Given the description of an element on the screen output the (x, y) to click on. 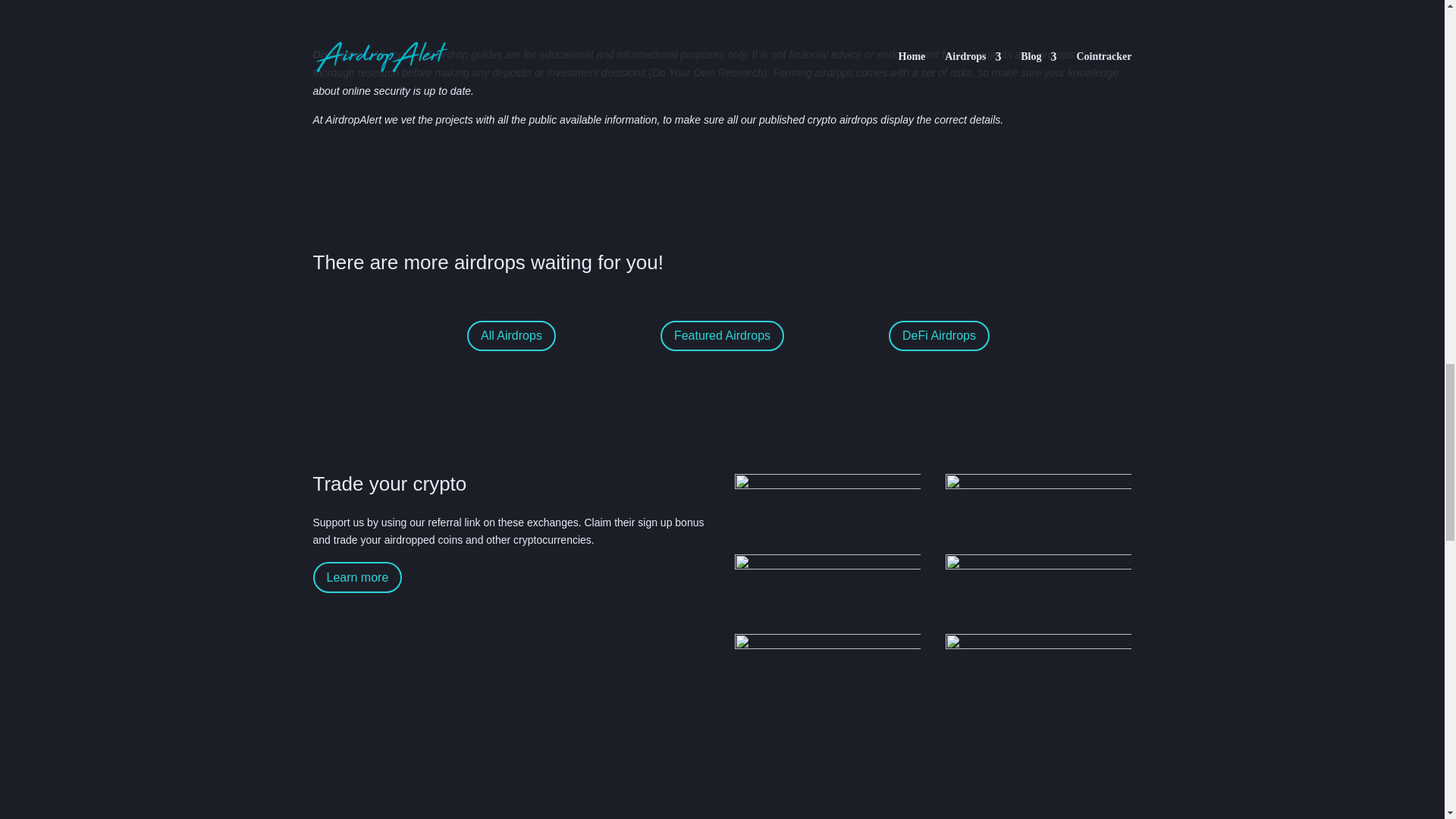
airdropalert-bybit-logo (828, 507)
AA-logos-aevo (828, 667)
mexc-logo-airdropalert (1038, 667)
jupiter-crypto-logo-airdrop (1038, 587)
Airdropalert-Binance-logo (1038, 507)
AA-logos-exchanges-kucoin (828, 587)
